Given the description of an element on the screen output the (x, y) to click on. 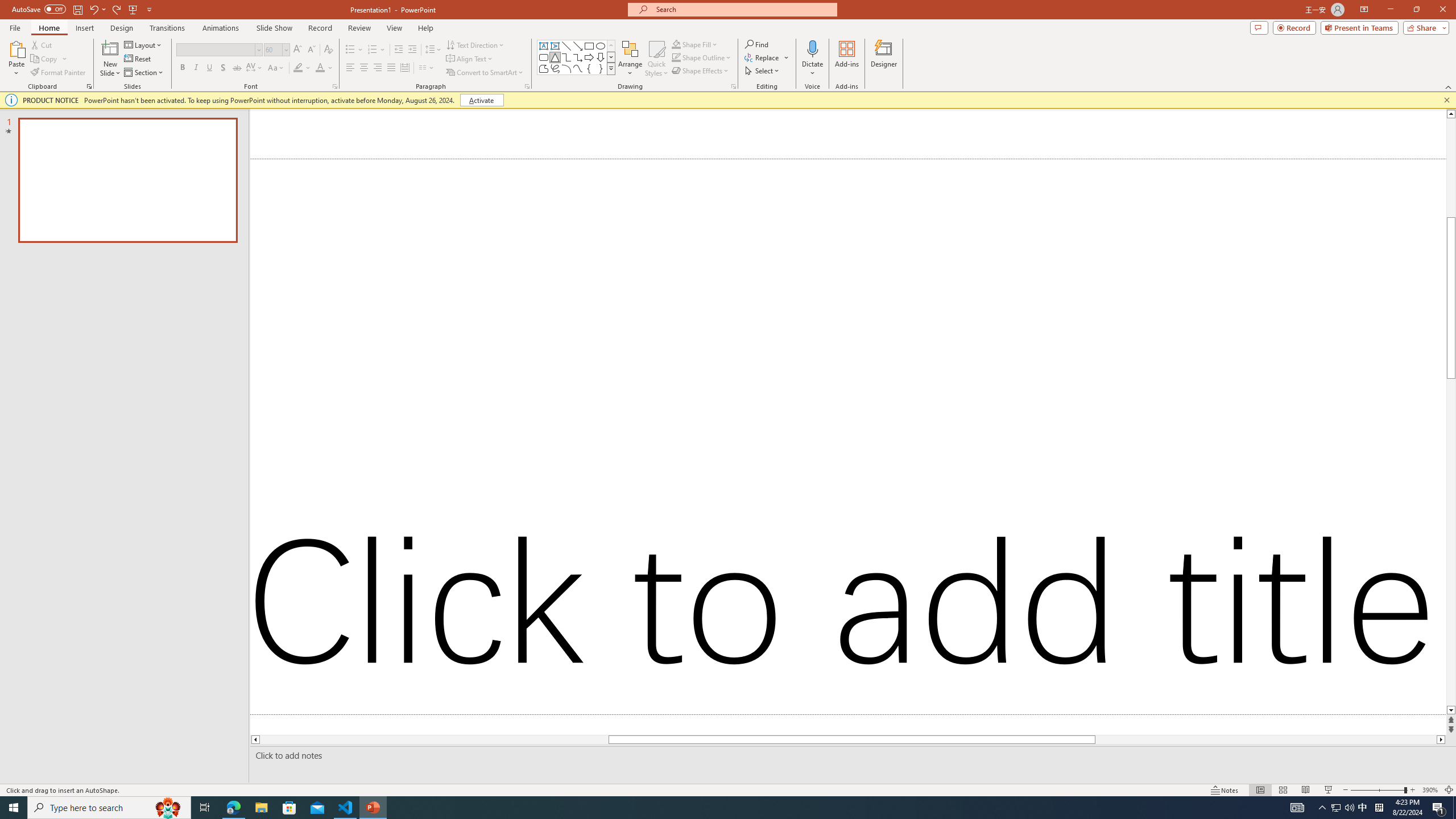
Text Direction (476, 44)
Cut (42, 44)
Bullets (349, 49)
Copy (49, 58)
Shape Outline Dark Red, Accent 1 (675, 56)
Text Highlight Color Yellow (297, 67)
Shape Outline (701, 56)
Font Color Red (320, 67)
Layout (143, 44)
Numbering (376, 49)
Character Spacing (254, 67)
Font... (334, 85)
